Given the description of an element on the screen output the (x, y) to click on. 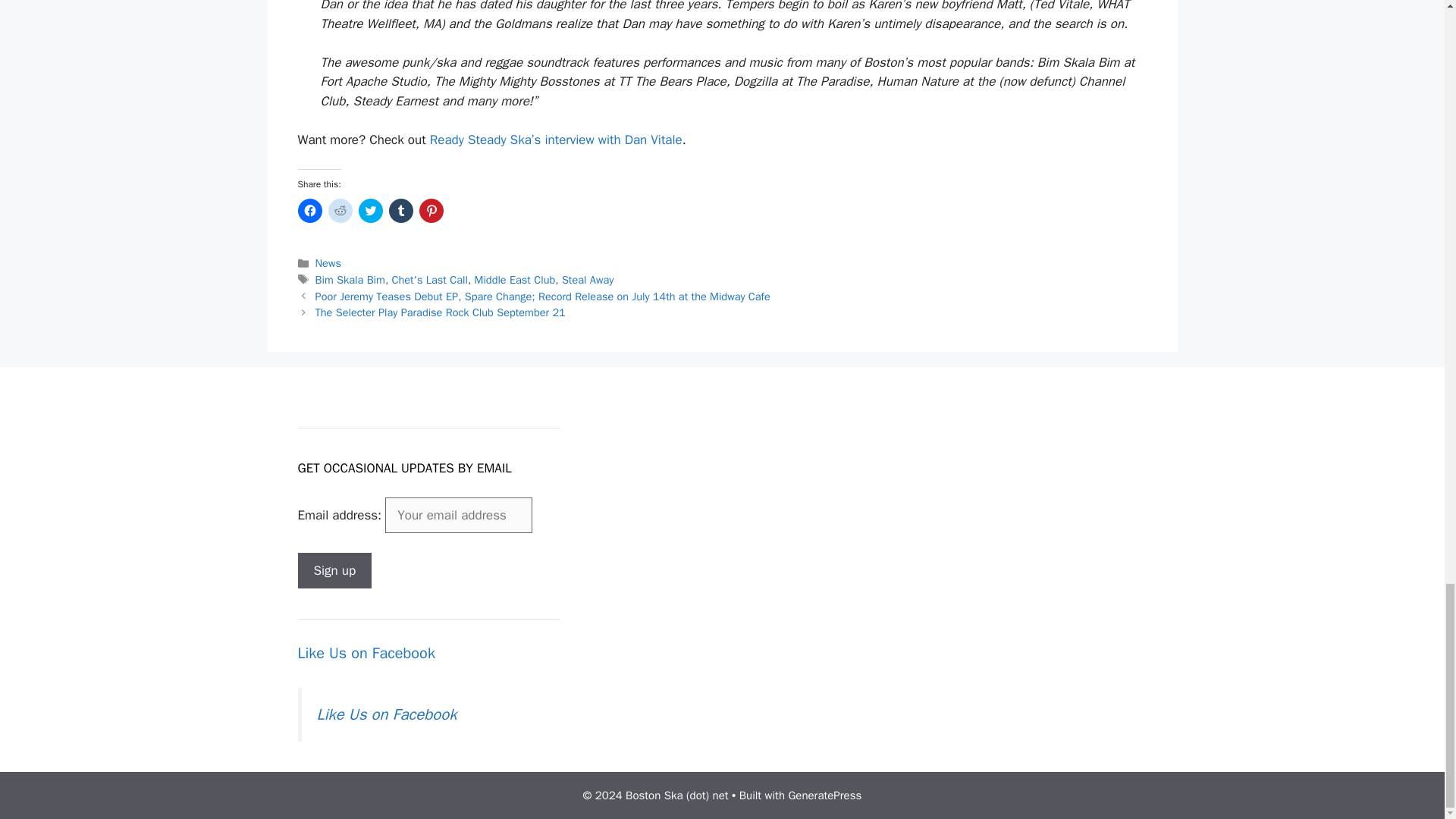
Sign up (334, 570)
News (327, 263)
Chet's Last Call (429, 279)
Click to share on Reddit (339, 210)
Click to share on Tumblr (400, 210)
Steal Away (587, 279)
Click to share on Twitter (369, 210)
The Selecter Play Paradise Rock Club September 21 (440, 312)
Click to share on Facebook (309, 210)
Bim Skala Bim (350, 279)
Like Us on Facebook (387, 713)
Middle East Club (515, 279)
Sign up (334, 570)
Like Us on Facebook (365, 652)
